Given the description of an element on the screen output the (x, y) to click on. 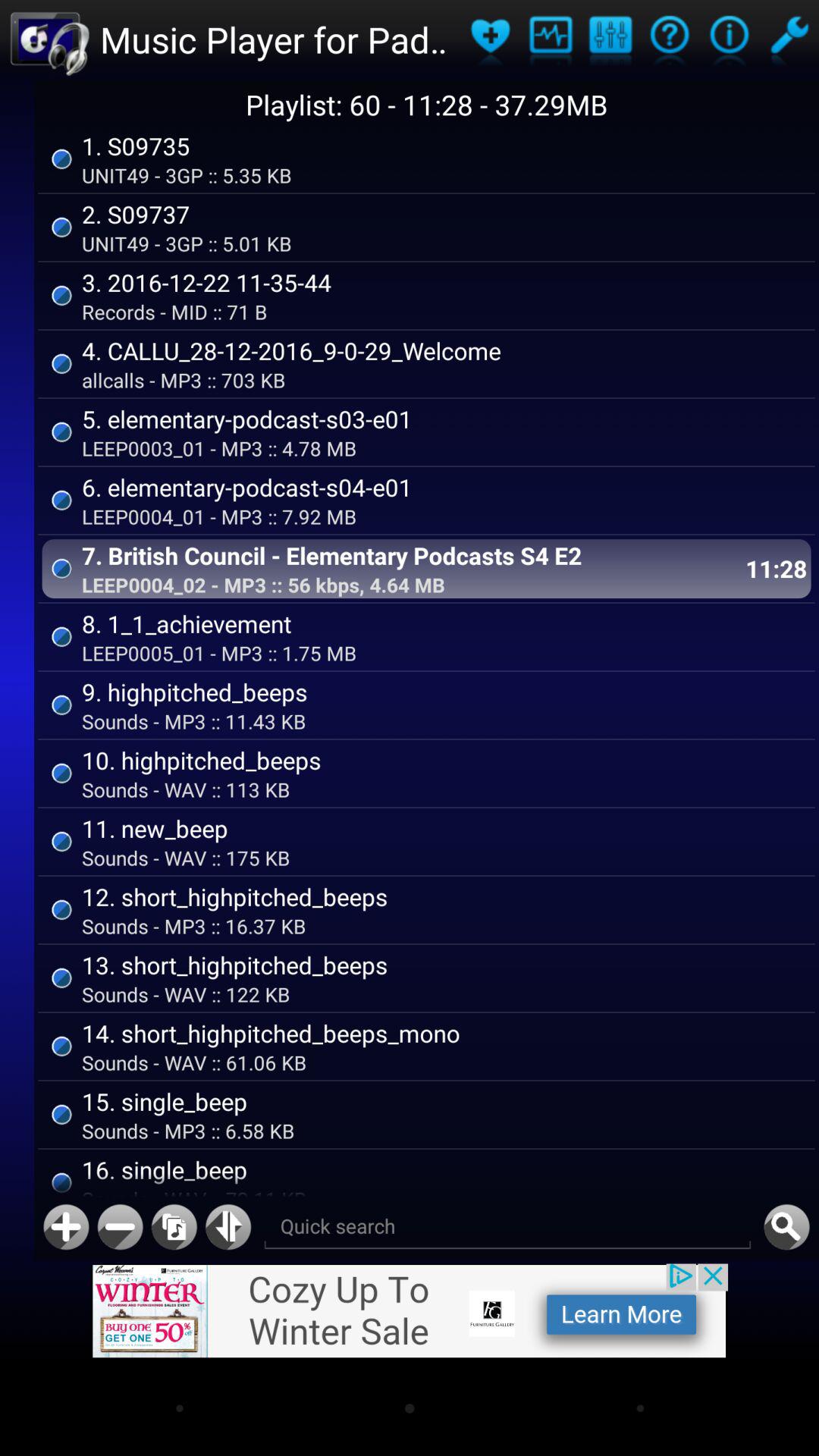
view advertisement (409, 1310)
